Given the description of an element on the screen output the (x, y) to click on. 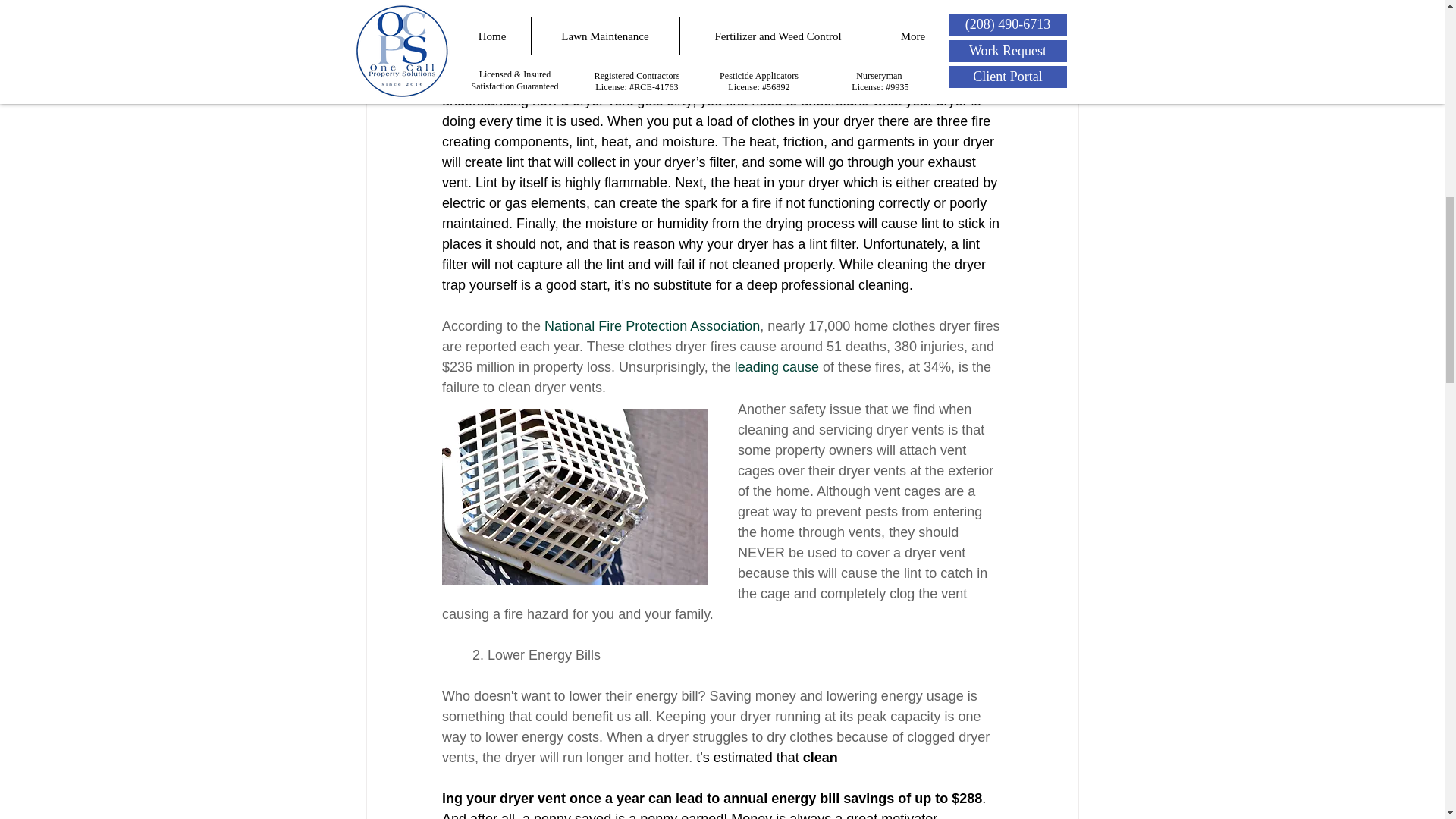
leading cause (775, 366)
National Fire Protection Association (652, 325)
professional dryer vent cleaning (731, 79)
